Given the description of an element on the screen output the (x, y) to click on. 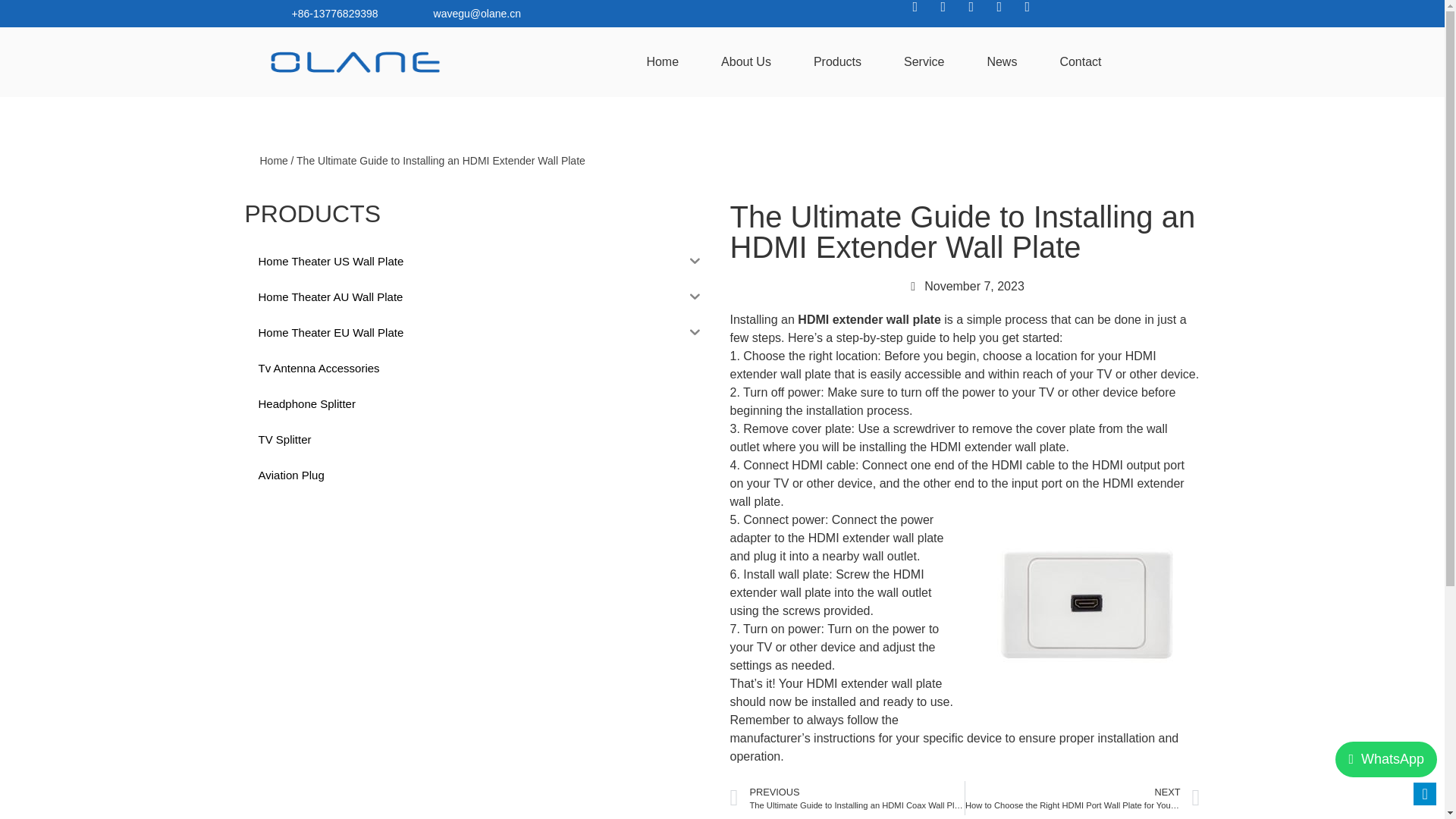
Service (923, 61)
Home (662, 61)
About Us (746, 61)
Contact (1080, 61)
Products (836, 61)
News (1001, 61)
